Given the description of an element on the screen output the (x, y) to click on. 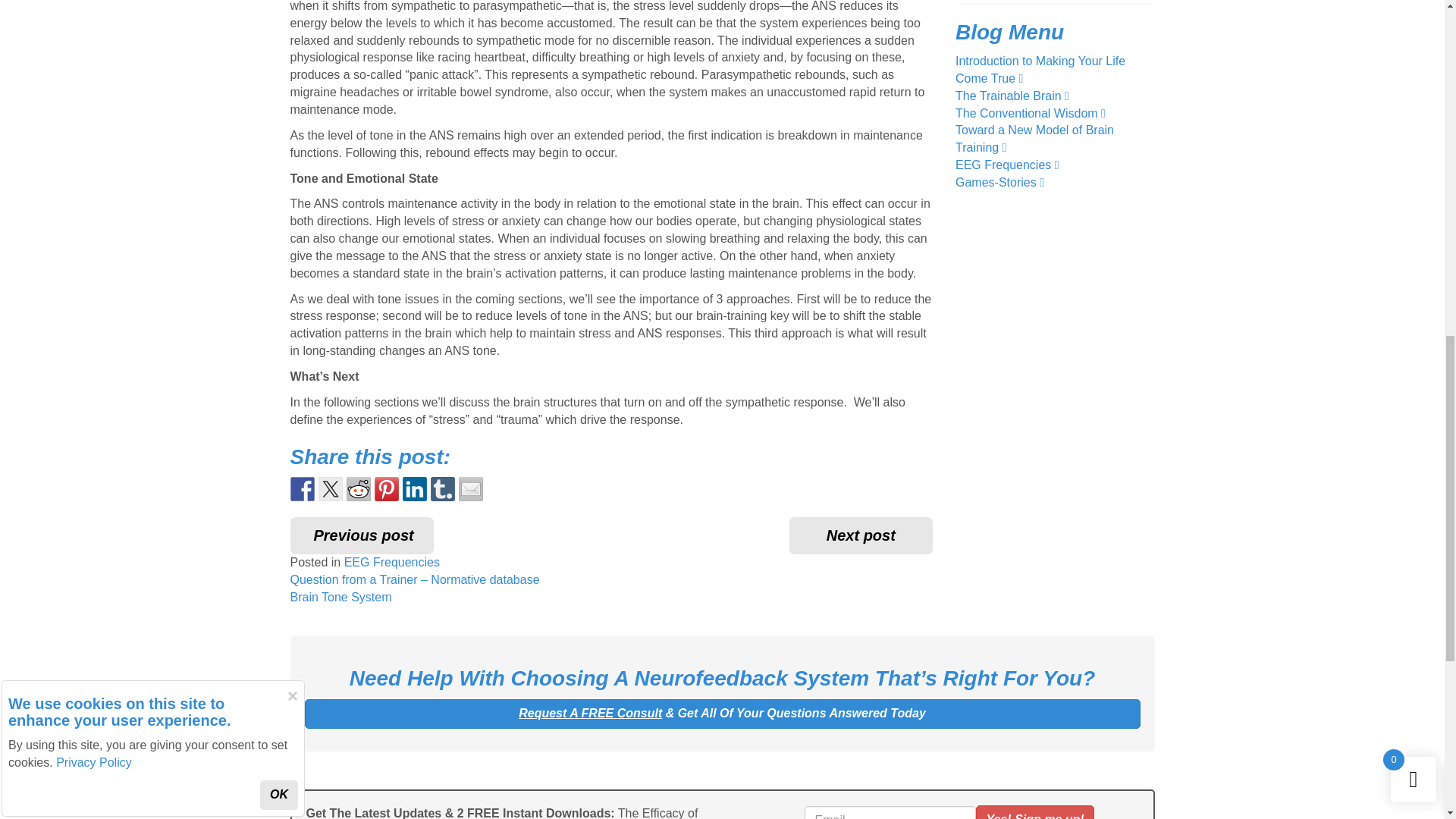
Yes! Sign me up! (1034, 812)
